Given the description of an element on the screen output the (x, y) to click on. 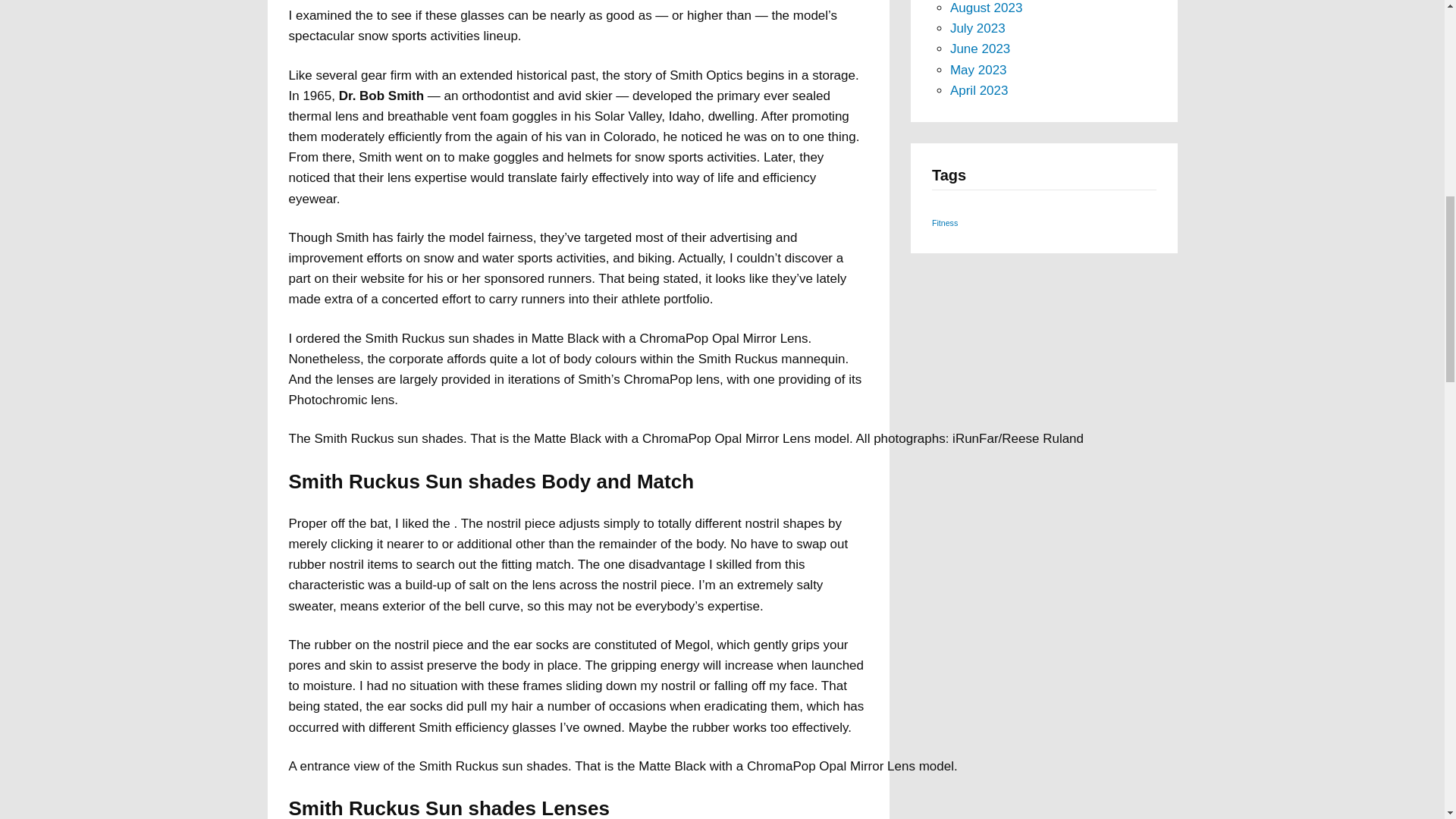
Fitness (944, 223)
April 2023 (979, 90)
June 2023 (980, 48)
July 2023 (978, 28)
August 2023 (986, 7)
May 2023 (978, 69)
